Given the description of an element on the screen output the (x, y) to click on. 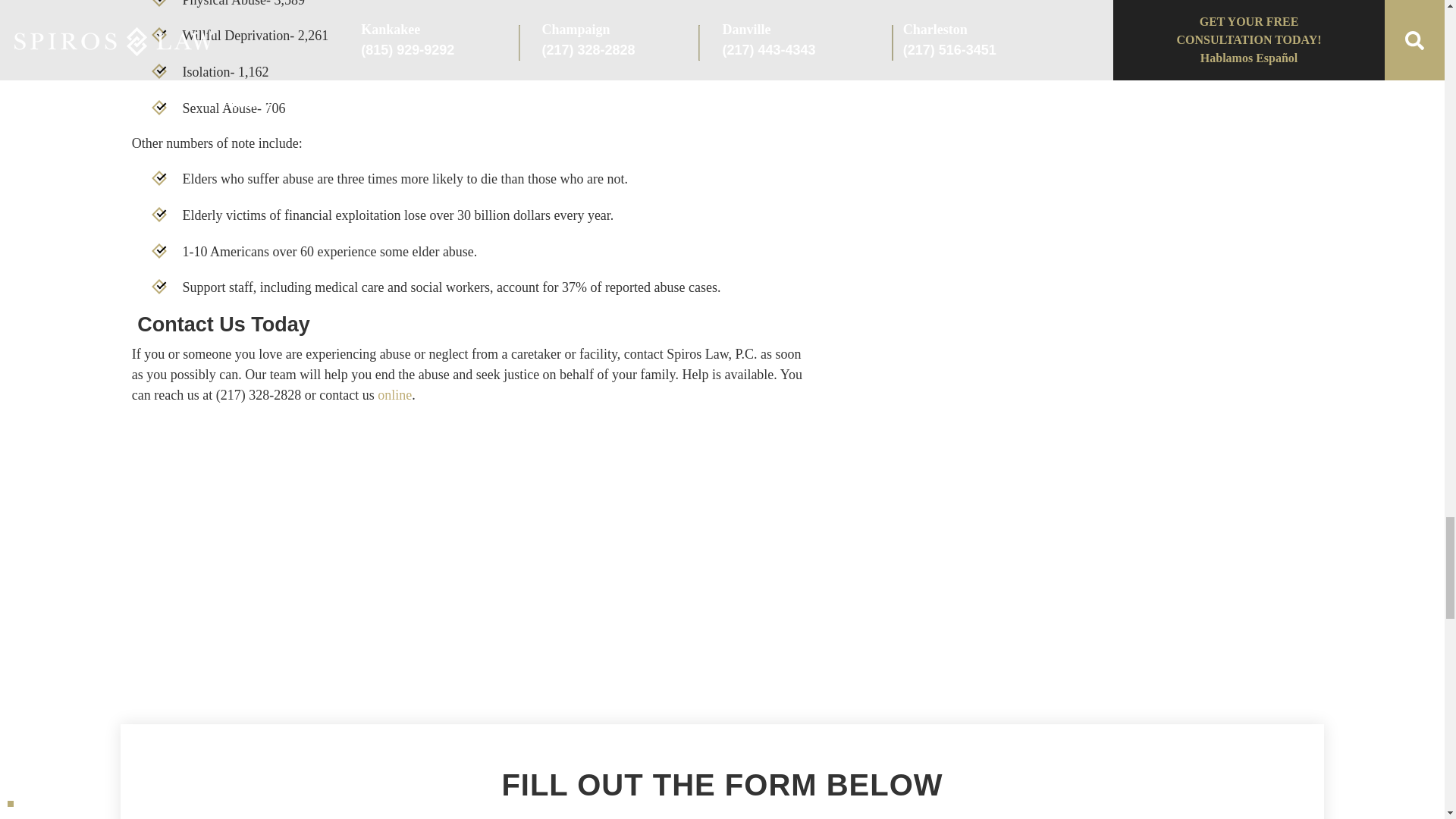
online (394, 394)
